Given the description of an element on the screen output the (x, y) to click on. 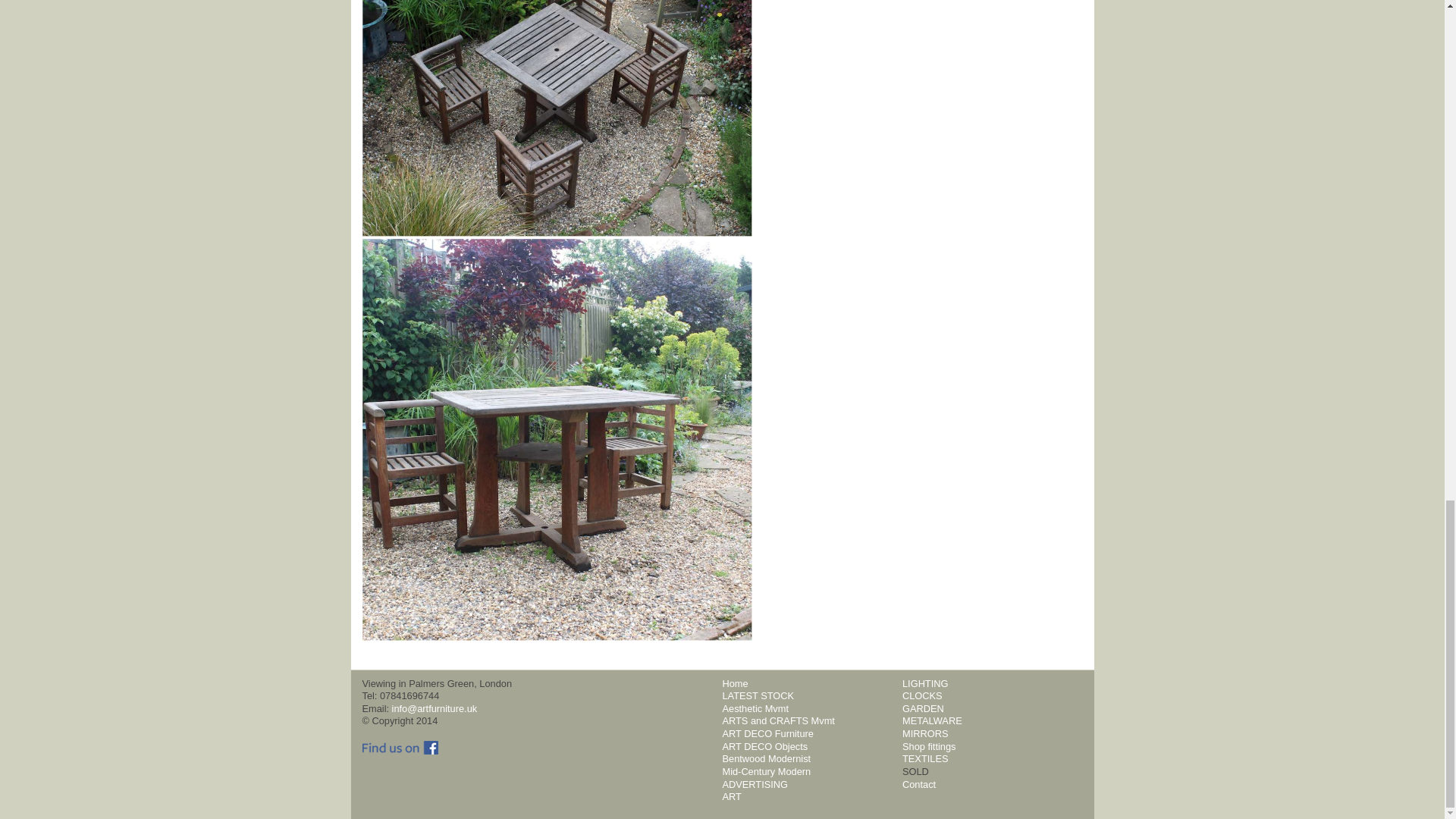
Aesthetic Mvmt (754, 708)
Home (735, 683)
ART (731, 796)
ADVERTISING (754, 784)
ART DECO Objects (765, 746)
Bentwood Modernist (766, 758)
CLOCKS (922, 695)
METALWARE (932, 720)
LATEST STOCK (757, 695)
LIGHTING (924, 683)
GARDEN (922, 708)
ARTS and CRAFTS Mvmt (778, 720)
Mid-Century Modern (766, 771)
ART DECO Furniture (767, 733)
